Given the description of an element on the screen output the (x, y) to click on. 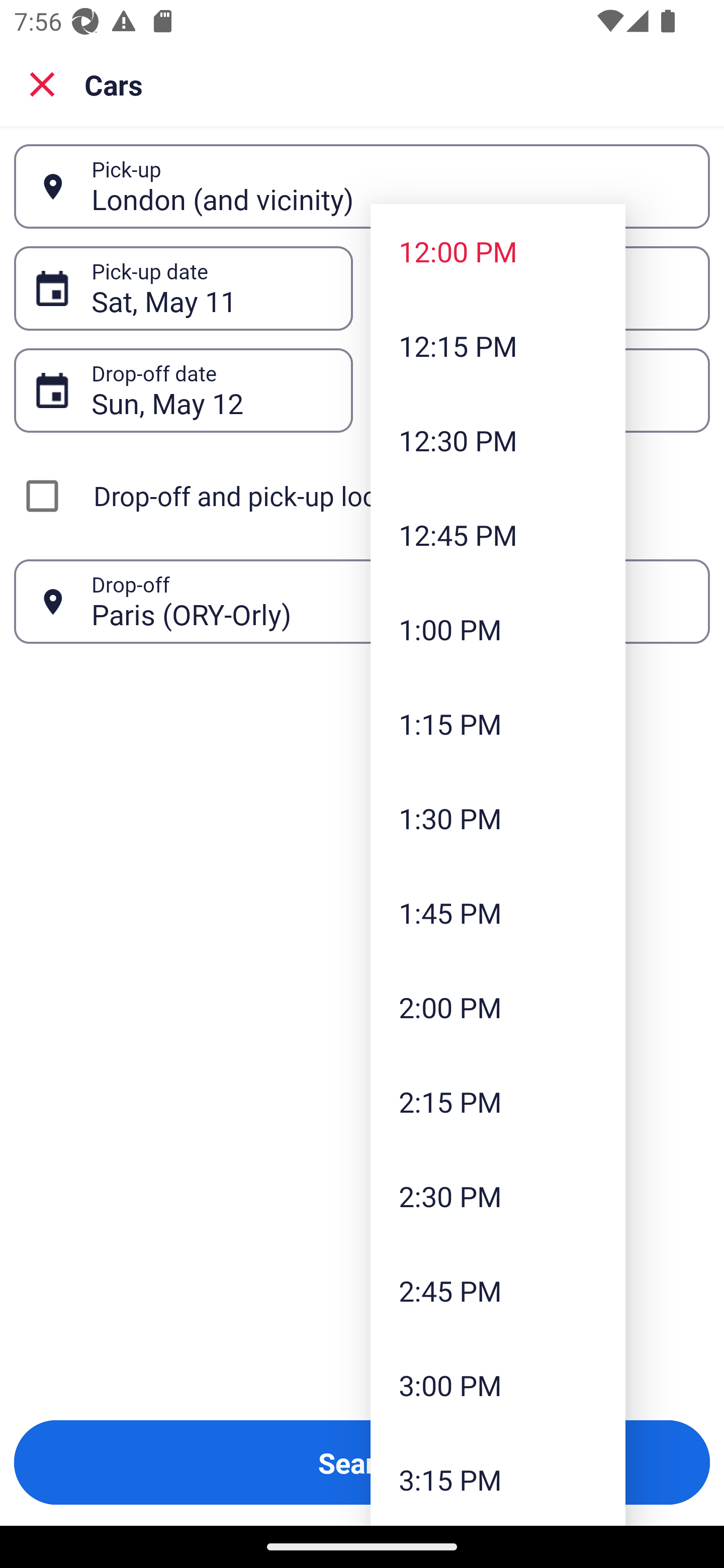
12:00 PM (497, 250)
12:15 PM (497, 345)
12:30 PM (497, 440)
12:45 PM (497, 534)
1:00 PM (497, 628)
1:15 PM (497, 723)
1:30 PM (497, 818)
1:45 PM (497, 912)
2:00 PM (497, 1006)
2:15 PM (497, 1101)
2:30 PM (497, 1196)
2:45 PM (497, 1290)
3:00 PM (497, 1384)
3:15 PM (497, 1478)
